Given the description of an element on the screen output the (x, y) to click on. 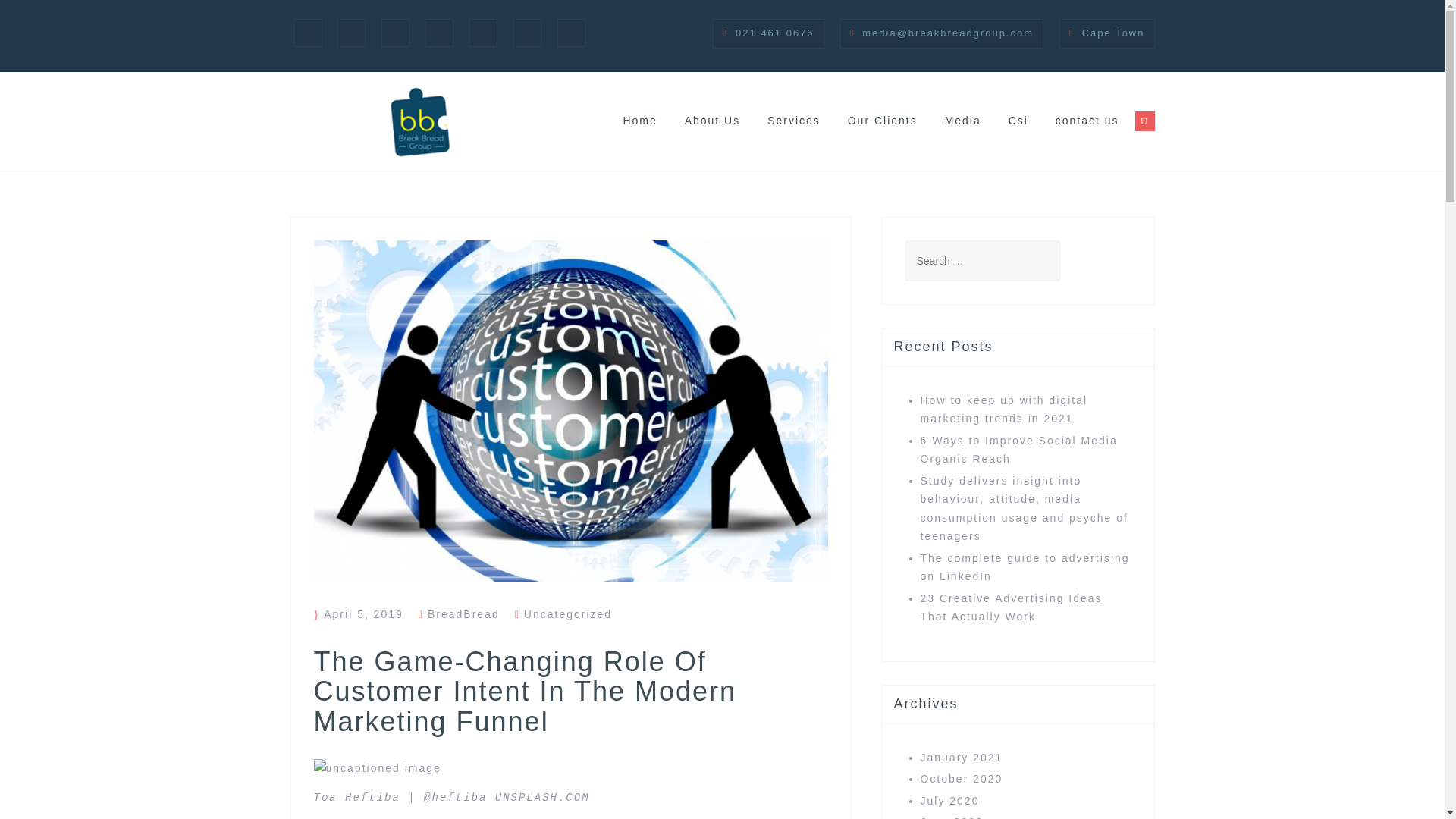
contact us (571, 32)
Home (307, 32)
About Us (351, 32)
Media (962, 120)
Csi (527, 32)
Media (482, 32)
contact us (1087, 120)
Services (793, 120)
About Us (712, 120)
Csi (1018, 120)
